Given the description of an element on the screen output the (x, y) to click on. 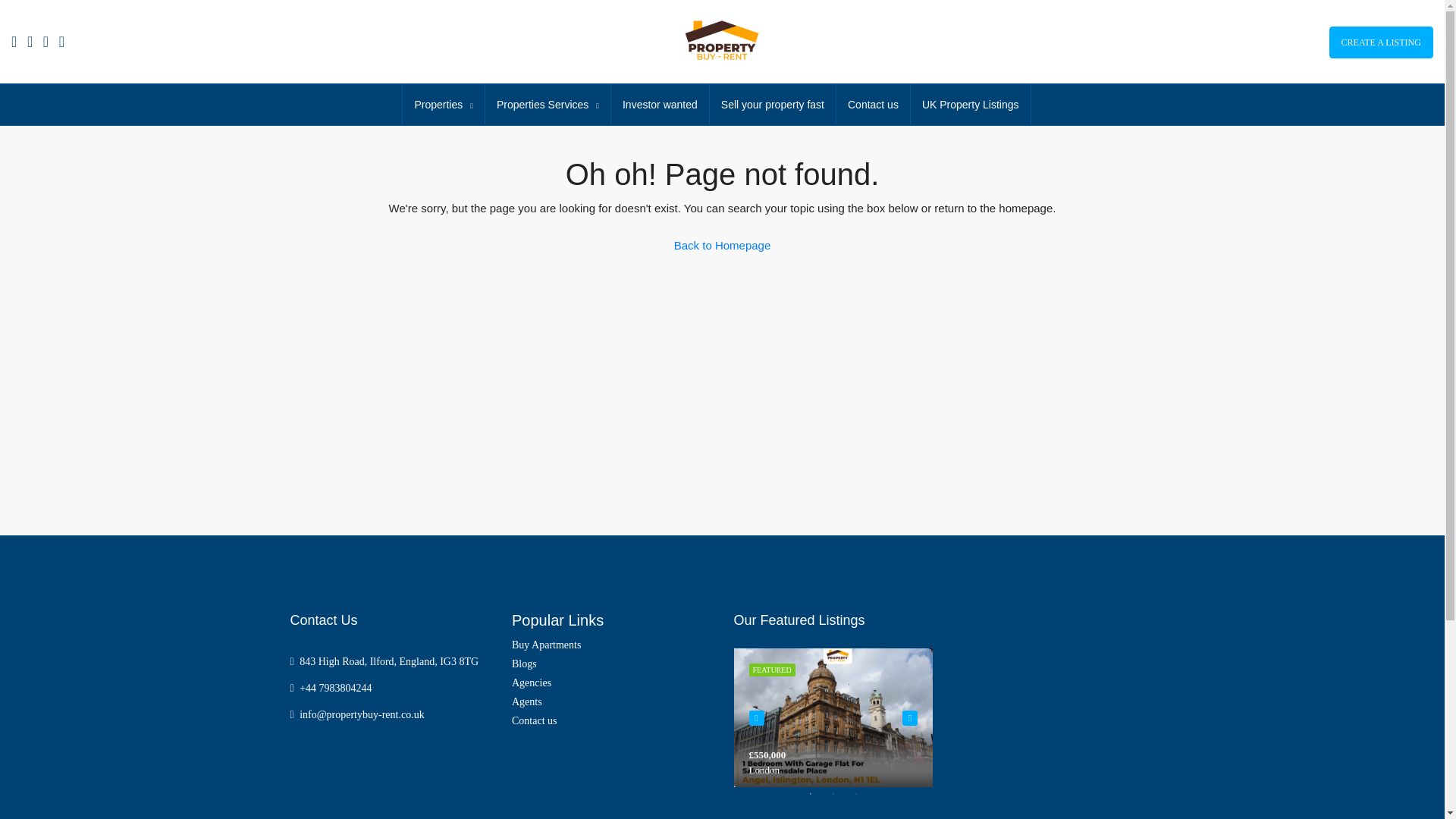
Properties (443, 105)
Properties Services (547, 105)
Sell your property fast (772, 104)
CREATE A LISTING (1380, 42)
Contact us (872, 104)
Investor wanted (660, 104)
